Given the description of an element on the screen output the (x, y) to click on. 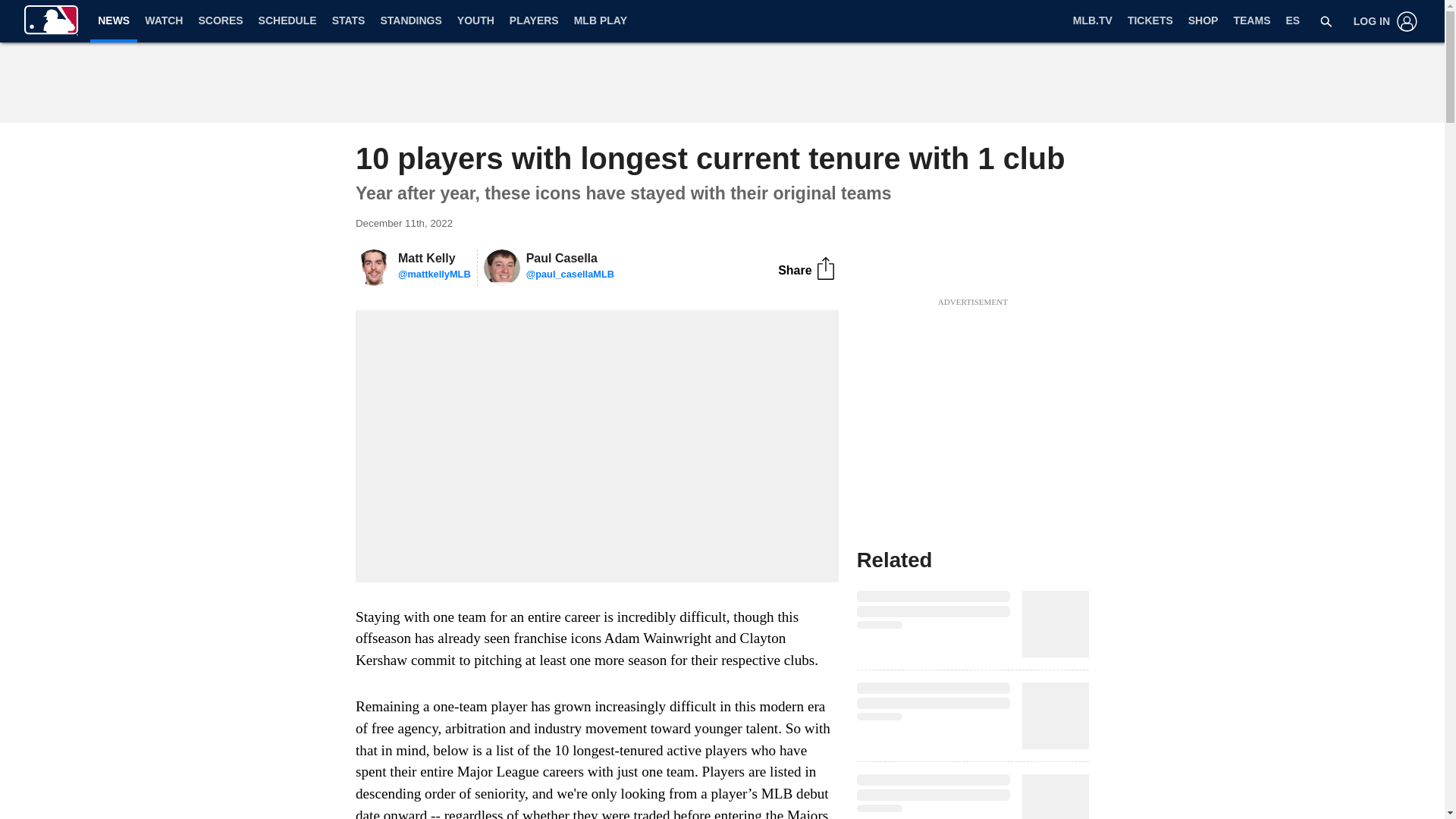
YOUTH (475, 21)
share-square-2 (825, 268)
SCORES (220, 21)
STANDINGS (410, 21)
search-1 (1326, 21)
NEWS (113, 19)
WATCH (163, 21)
STATS (348, 21)
SCHEDULE (287, 21)
